Given the description of an element on the screen output the (x, y) to click on. 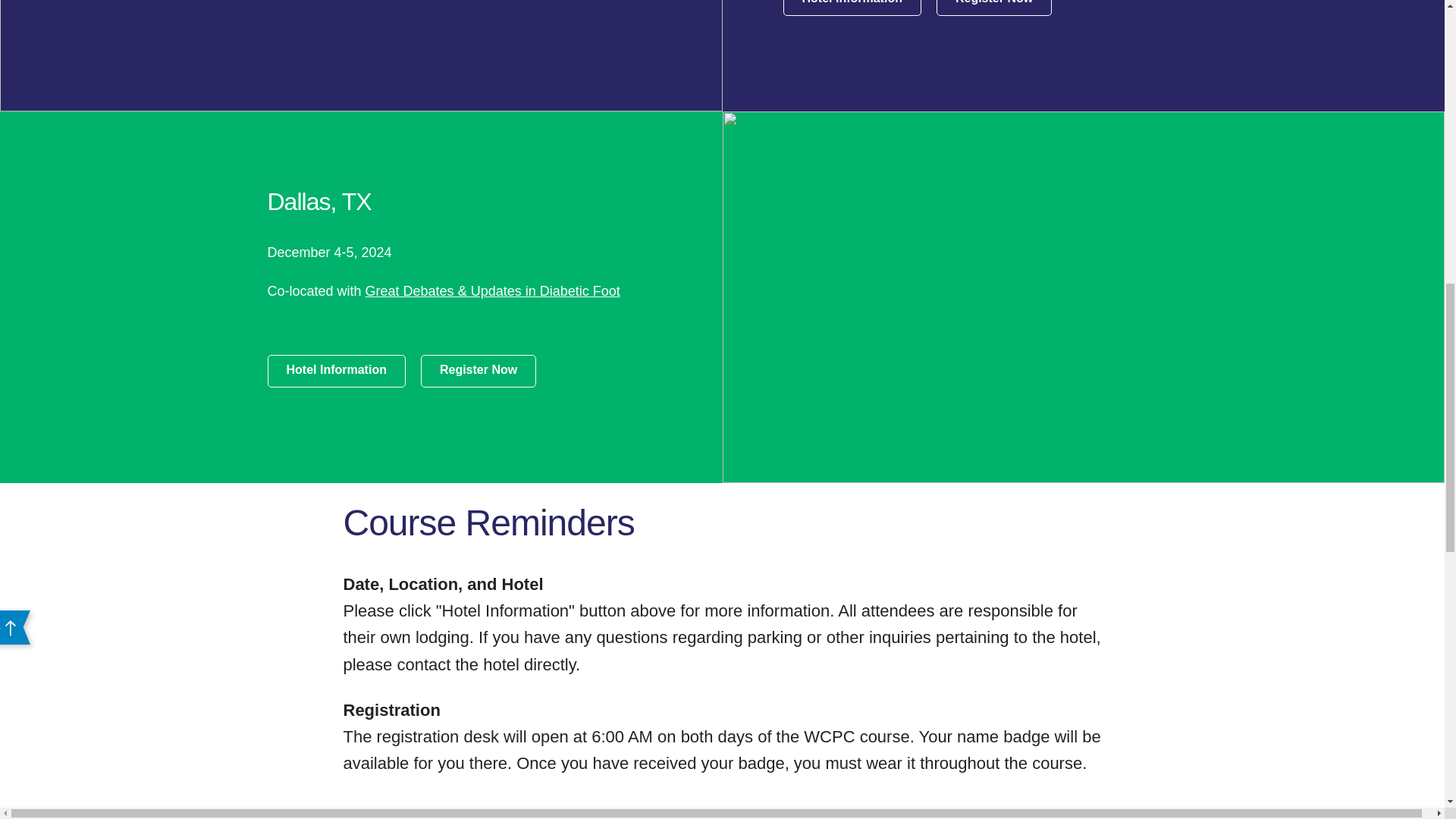
Hotel Information (335, 370)
Register Now (993, 7)
Hotel Information (851, 7)
Register Now (477, 370)
